Given the description of an element on the screen output the (x, y) to click on. 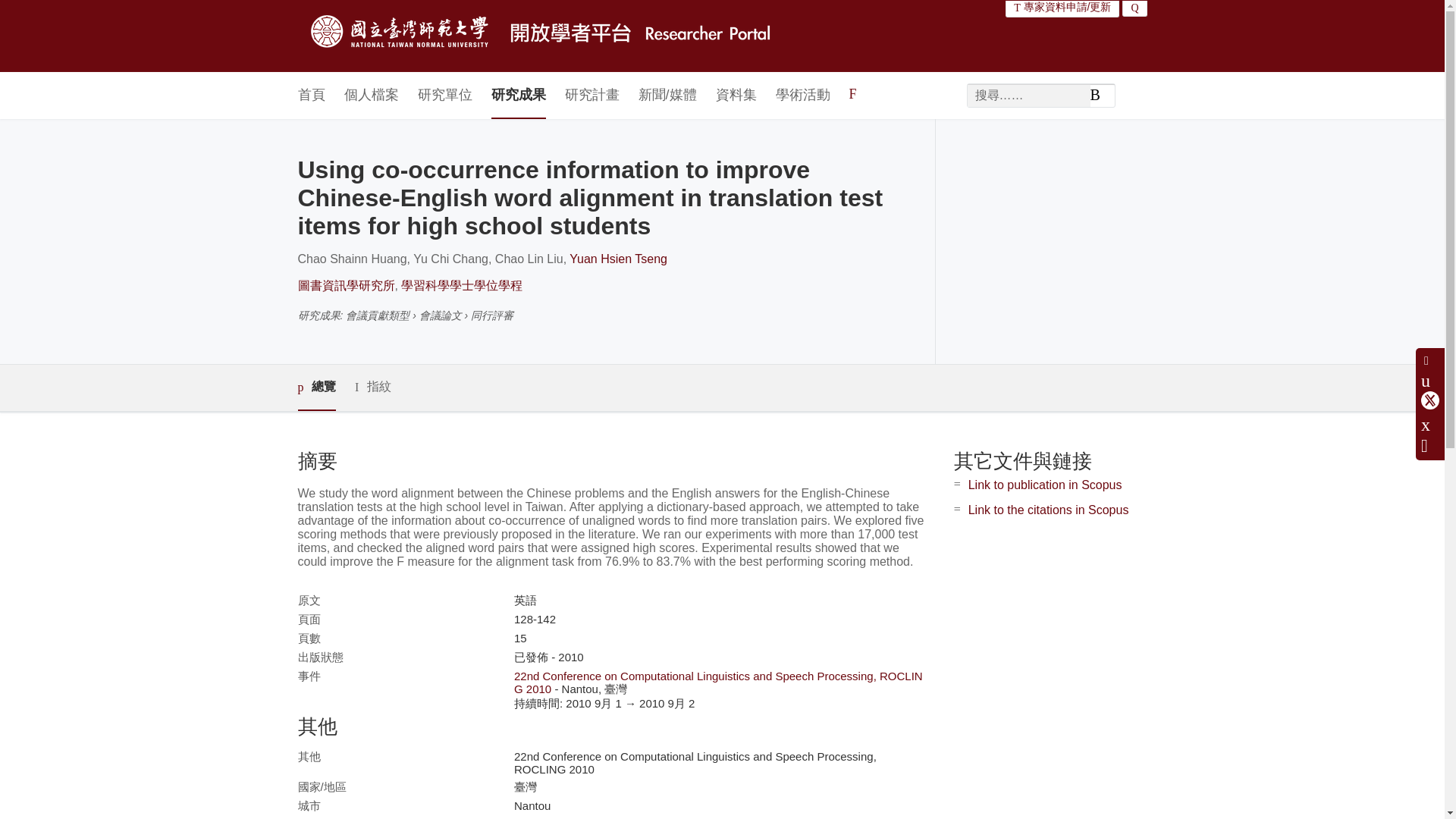
Link to the citations in Scopus (1048, 509)
Yuan Hsien Tseng (617, 258)
Link to publication in Scopus (1045, 484)
